Given the description of an element on the screen output the (x, y) to click on. 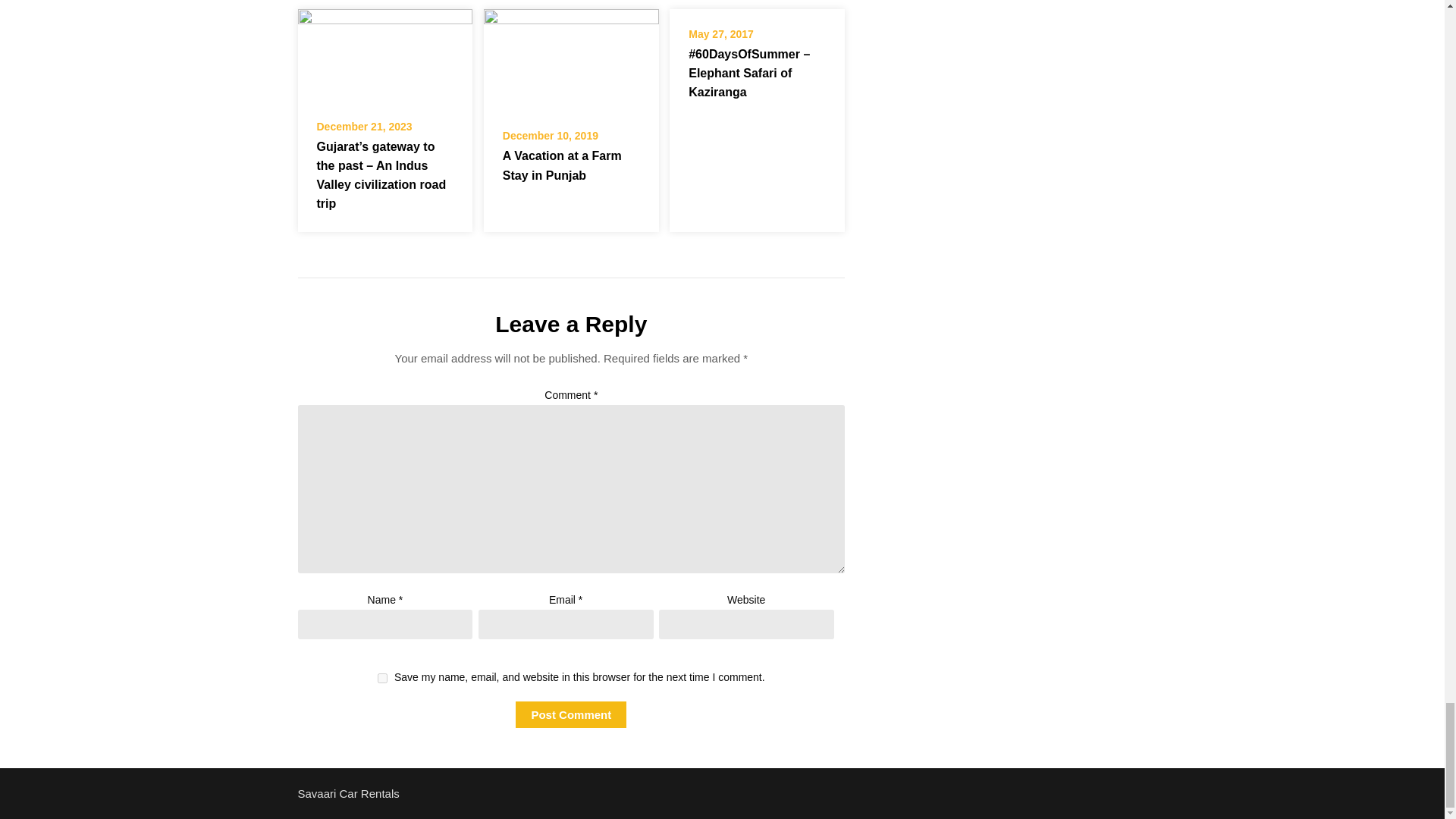
A Vacation at a Farm Stay in Punjab (571, 58)
yes (382, 678)
Post Comment (570, 714)
